Given the description of an element on the screen output the (x, y) to click on. 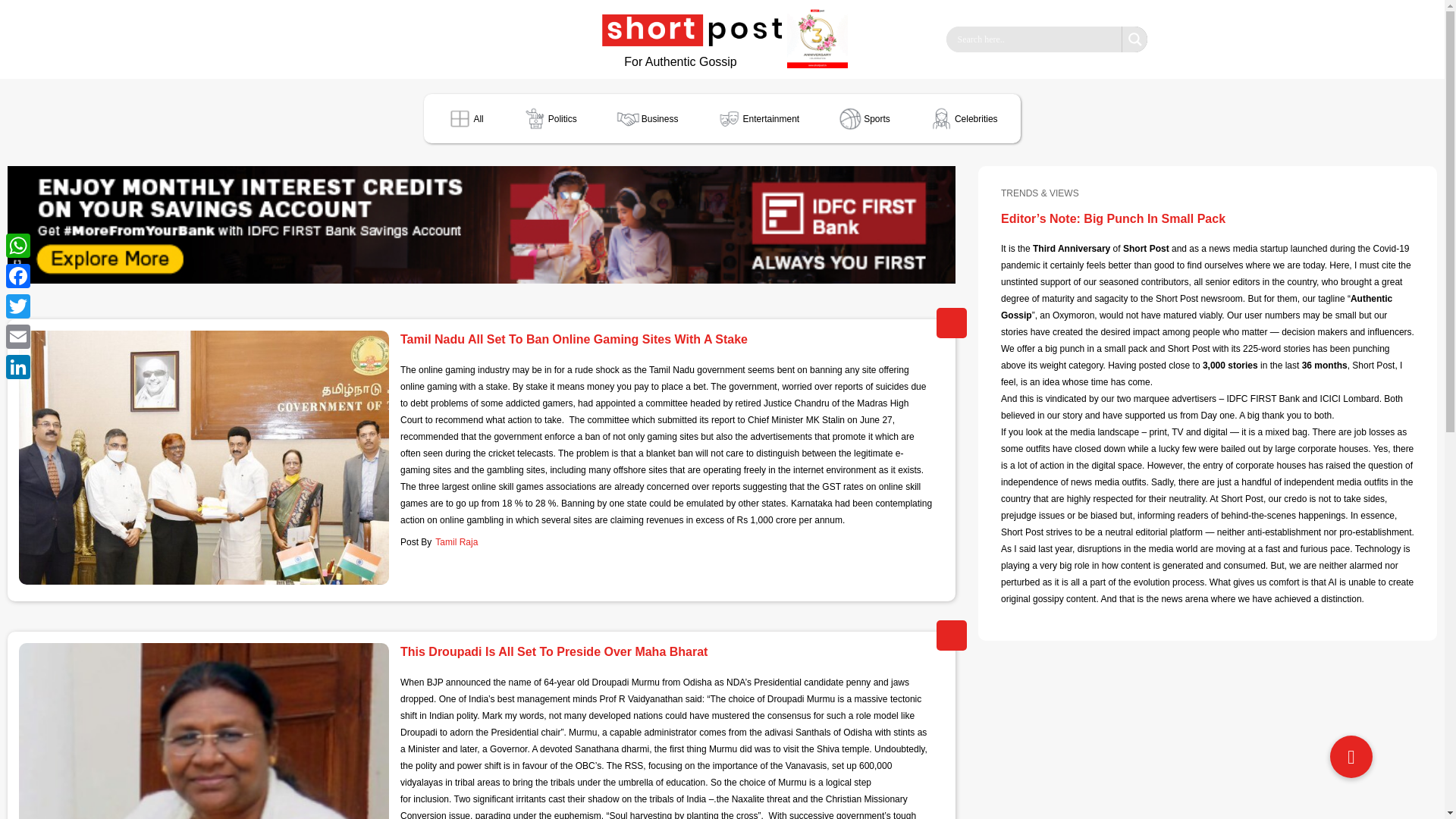
This Droupadi Is All Set To Preside Over Maha Bharat (203, 730)
All (463, 118)
This Droupadi Is All Set To Preside Over Maha Bharat (553, 651)
Twitter (17, 306)
Email (17, 336)
POLITICS (951, 322)
Tamil Nadu All Set To Ban Online Gaming Sites With A Stake (203, 457)
Tamil Nadu All Set To Ban Online Gaming Sites With A Stake (574, 339)
WhatsApp (17, 245)
Entertainment (756, 118)
Sports (863, 118)
POLITICS (951, 634)
Politics (549, 118)
LinkedIn (17, 367)
Business (646, 118)
